Given the description of an element on the screen output the (x, y) to click on. 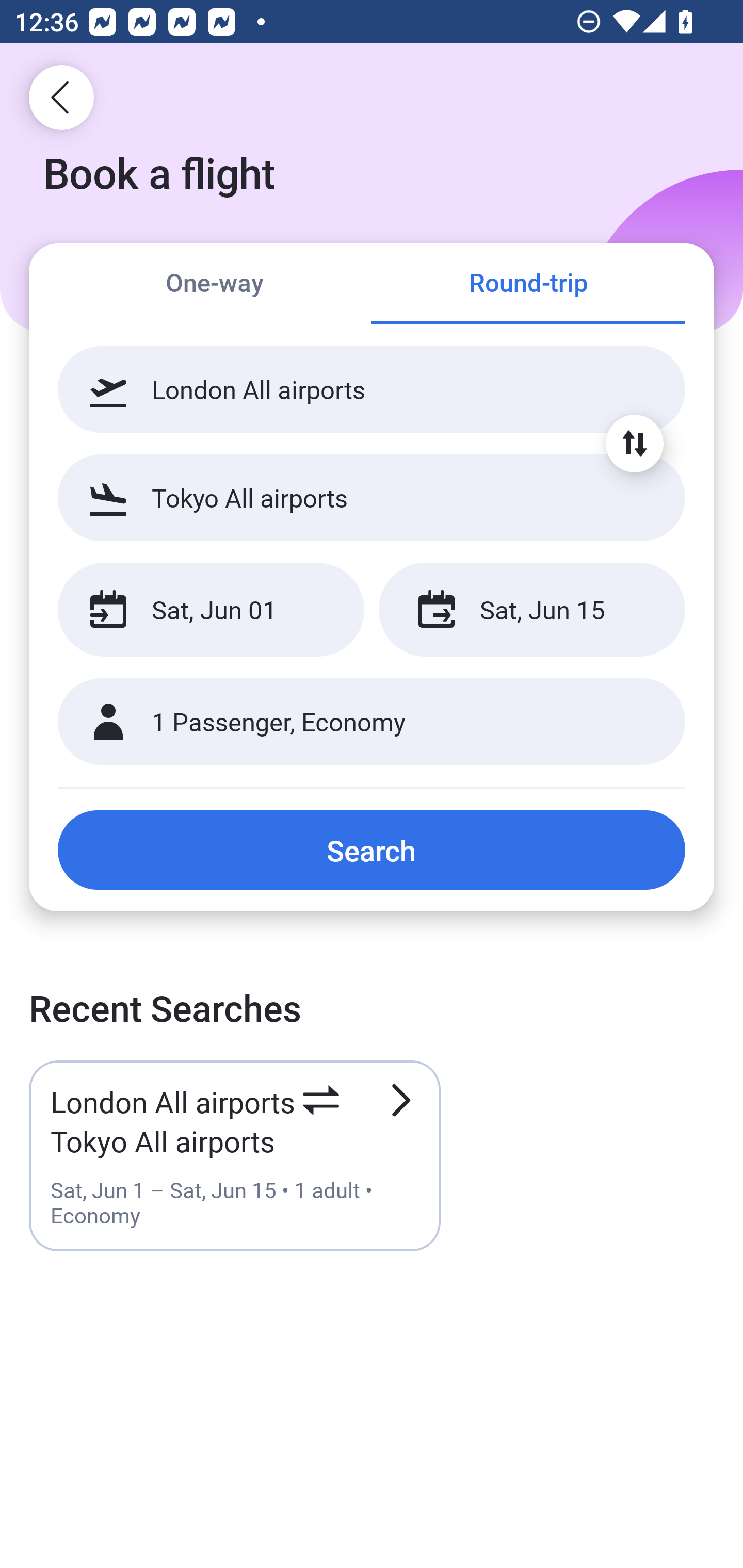
One-way (214, 284)
London All airports (371, 389)
Tokyo All airports (371, 497)
Sat, Jun 01 (210, 609)
Sat, Jun 15 (531, 609)
1 Passenger, Economy (371, 721)
Search (371, 849)
